Given the description of an element on the screen output the (x, y) to click on. 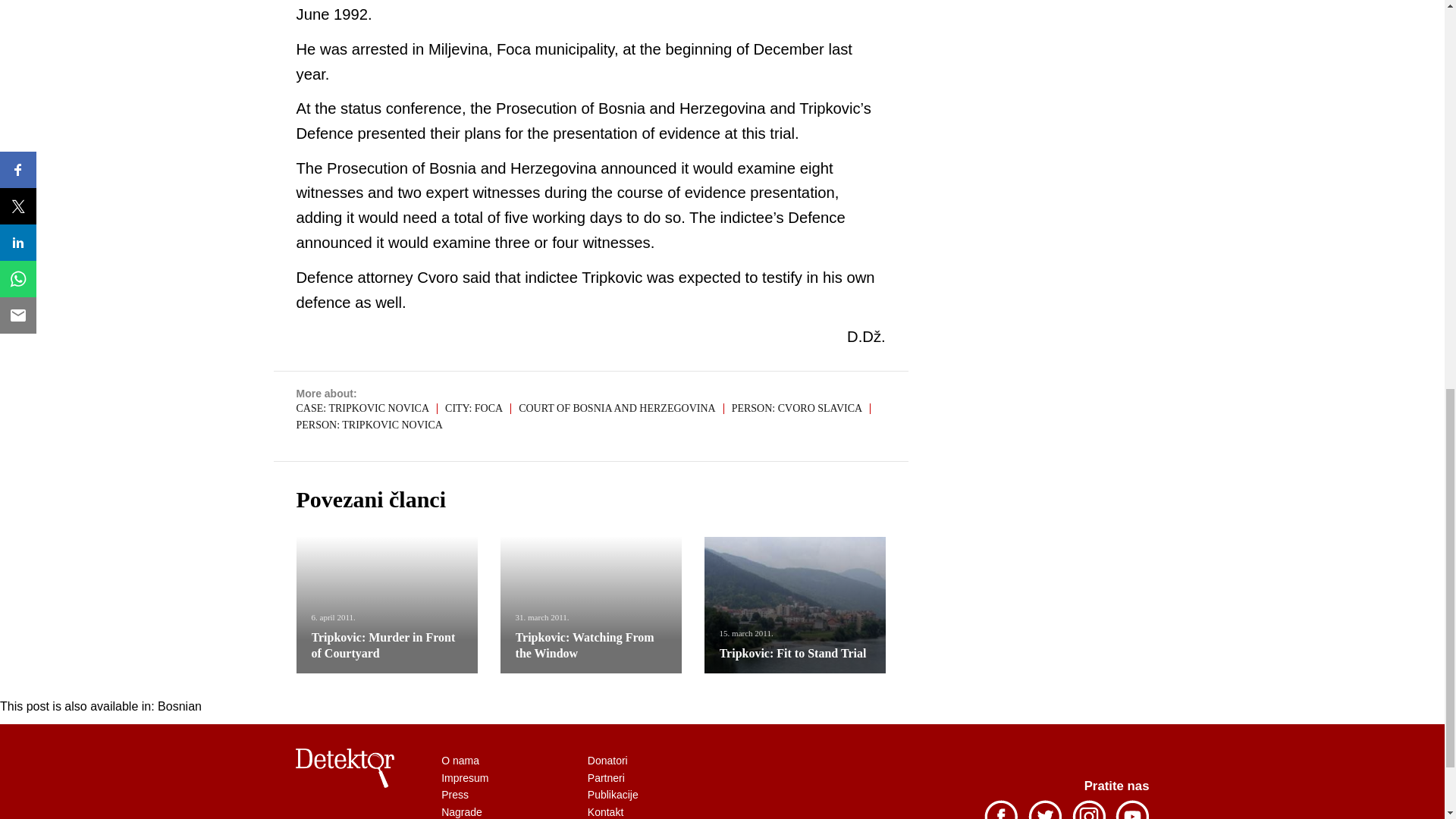
Tripkovic: Murder in Front of Courtyard (382, 645)
Tripkovic: Fit to Stand Trial (792, 653)
Press (454, 794)
Tripkovic: Fit to Stand Trial (794, 605)
Bosnian (179, 706)
Partneri  (607, 777)
CITY: FOCA (478, 408)
Tripkovic: Murder in Front of Courtyard (382, 645)
Kontakt  (607, 811)
PERSON: TRIPKOVIC NOVICA (368, 425)
Tripkovic: Fit to Stand Trial (792, 653)
Tripkovic: Watching From the Window (584, 645)
Nagrade (461, 811)
Tripkovic: Watching From the Window (584, 645)
CASE: TRIPKOVIC NOVICA (366, 408)
